Given the description of an element on the screen output the (x, y) to click on. 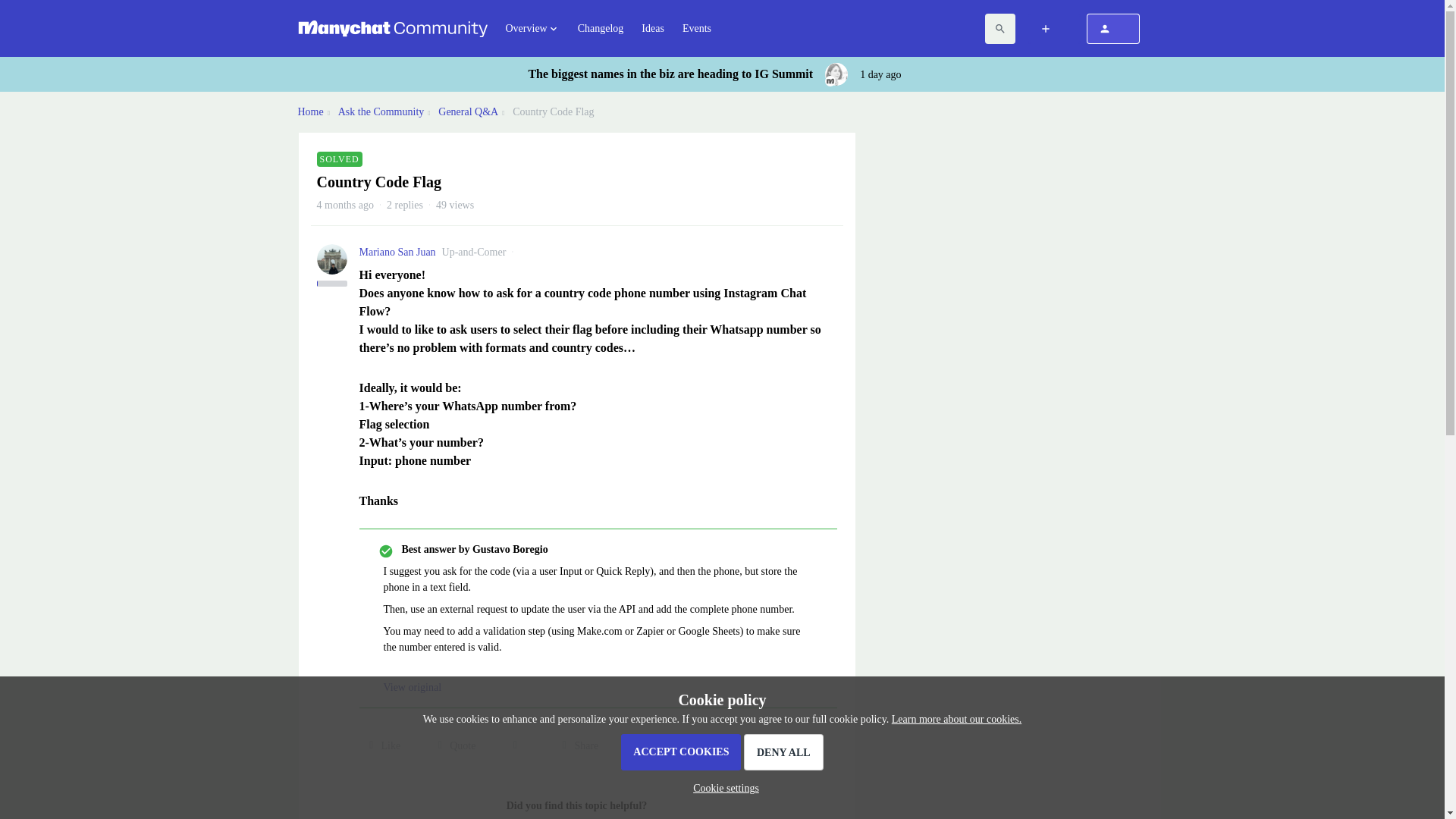
Changelog (601, 28)
Ask the Community (381, 111)
Overview (532, 28)
Manychat Team Member (830, 81)
Like (380, 746)
Mariano San Juan (397, 252)
Events (696, 28)
2 replies (405, 204)
Home (310, 111)
View original (413, 686)
